Given the description of an element on the screen output the (x, y) to click on. 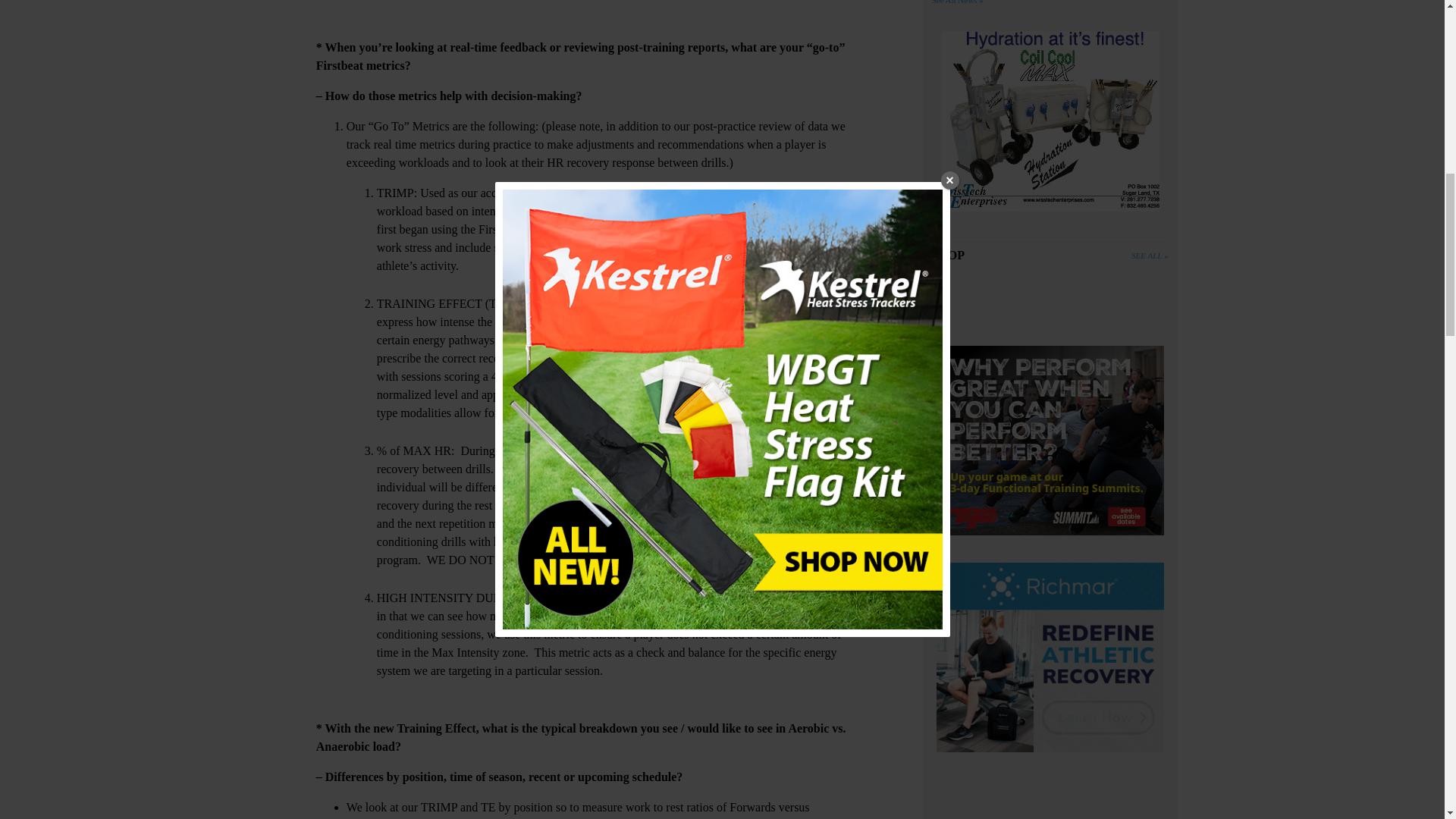
Wisstech (1049, 123)
